Given the description of an element on the screen output the (x, y) to click on. 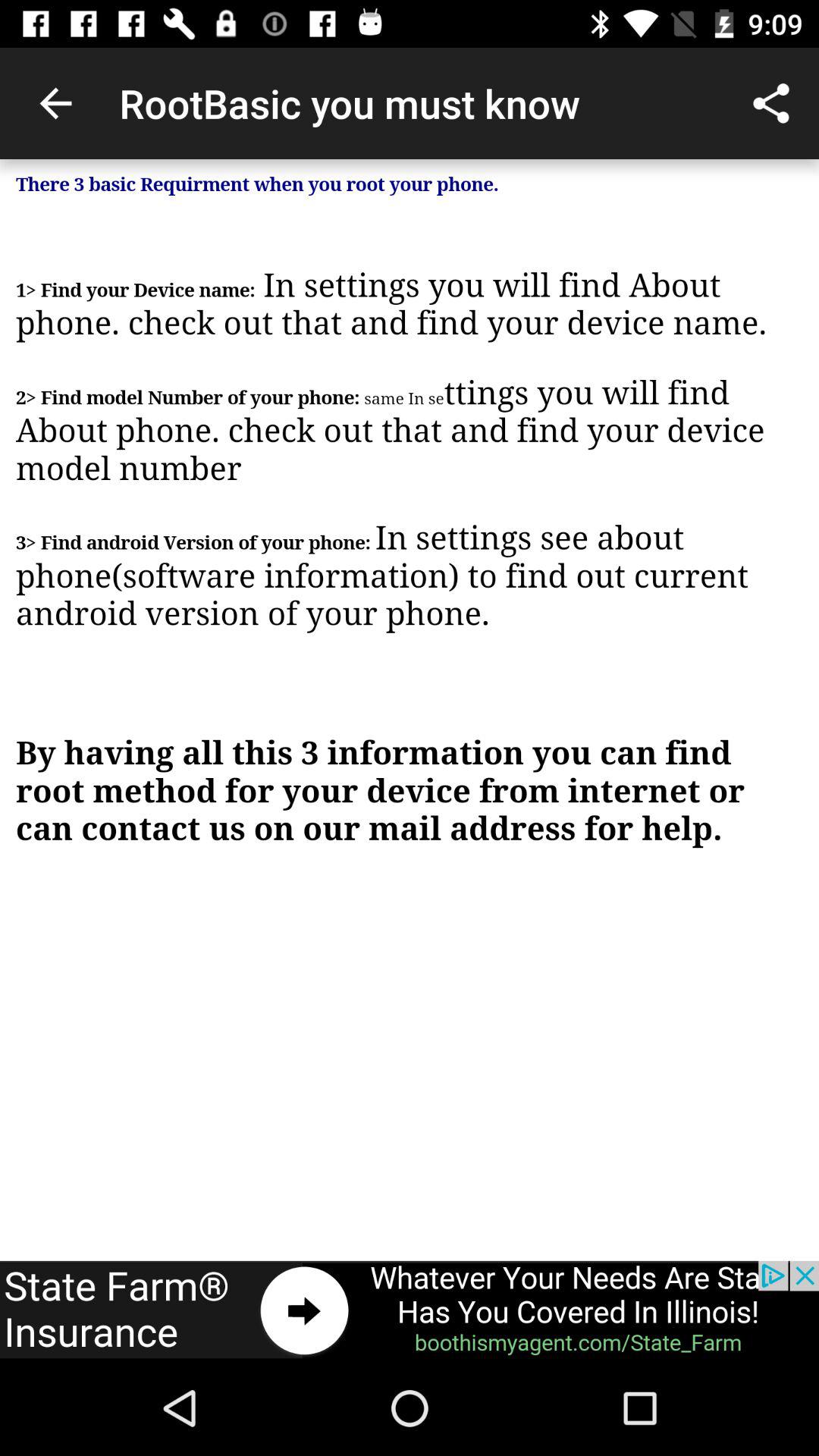
advertisement (409, 1310)
